Given the description of an element on the screen output the (x, y) to click on. 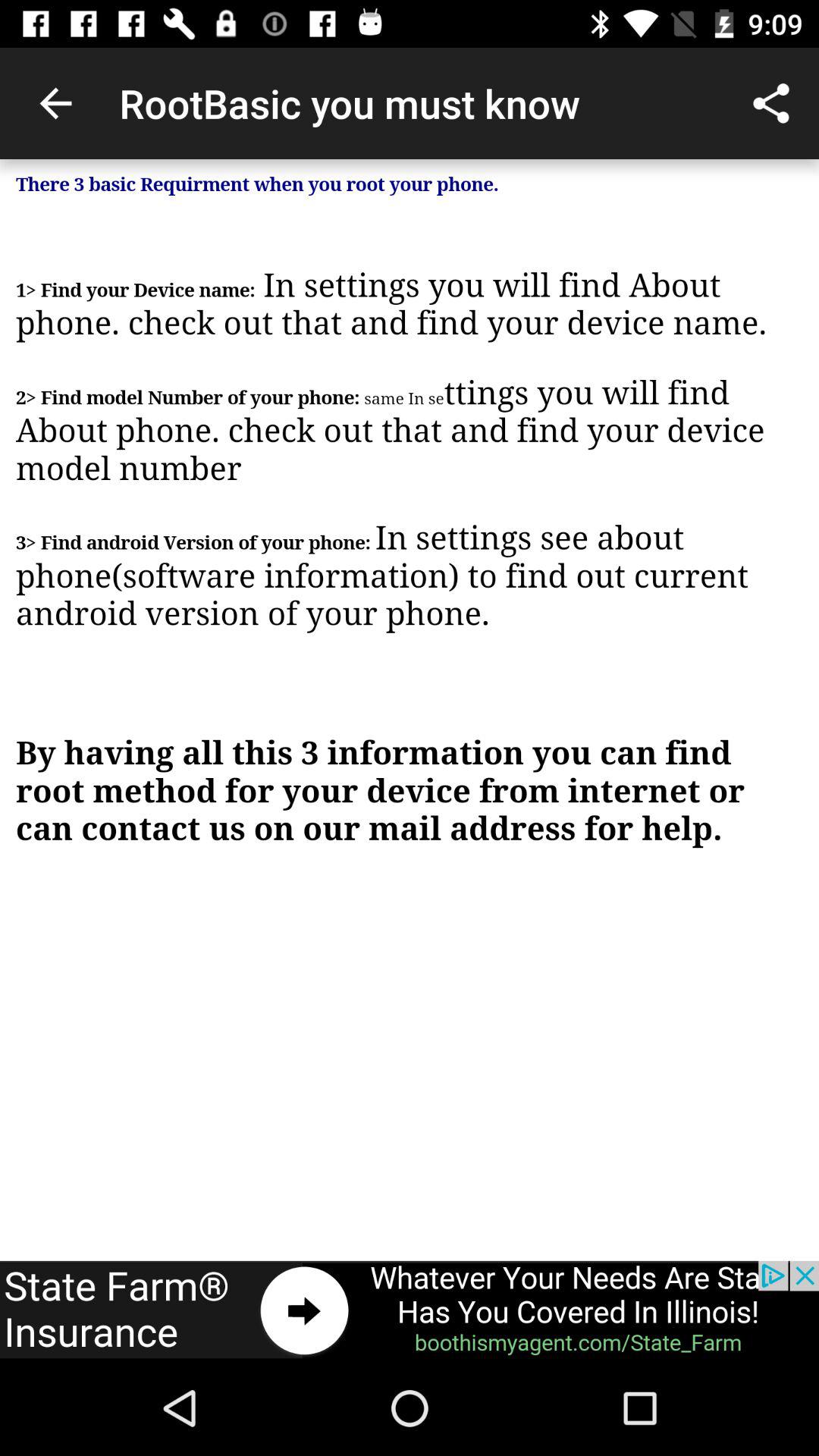
advertisement (409, 1310)
